Given the description of an element on the screen output the (x, y) to click on. 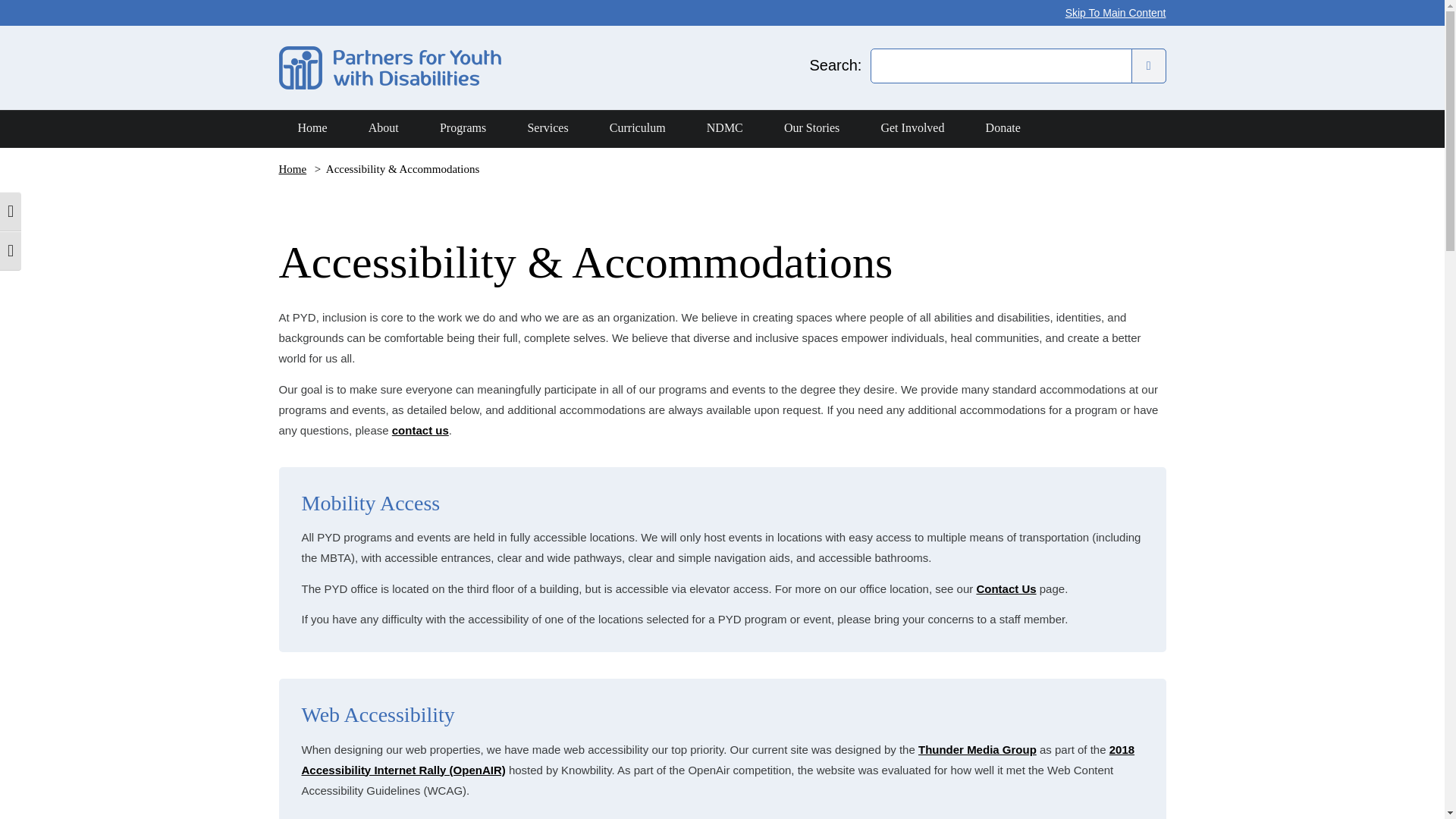
Programs (462, 129)
NDMC (724, 129)
Thunder Media Group (977, 748)
About (383, 129)
Submit Search (1148, 65)
Donate (1002, 129)
Curriculum (637, 129)
Services (547, 129)
contact us (419, 429)
Contact Us (1005, 588)
Home (312, 129)
Our Stories (812, 129)
Get Involved (911, 129)
Skip To Main Content (1115, 12)
Home (293, 168)
